Given the description of an element on the screen output the (x, y) to click on. 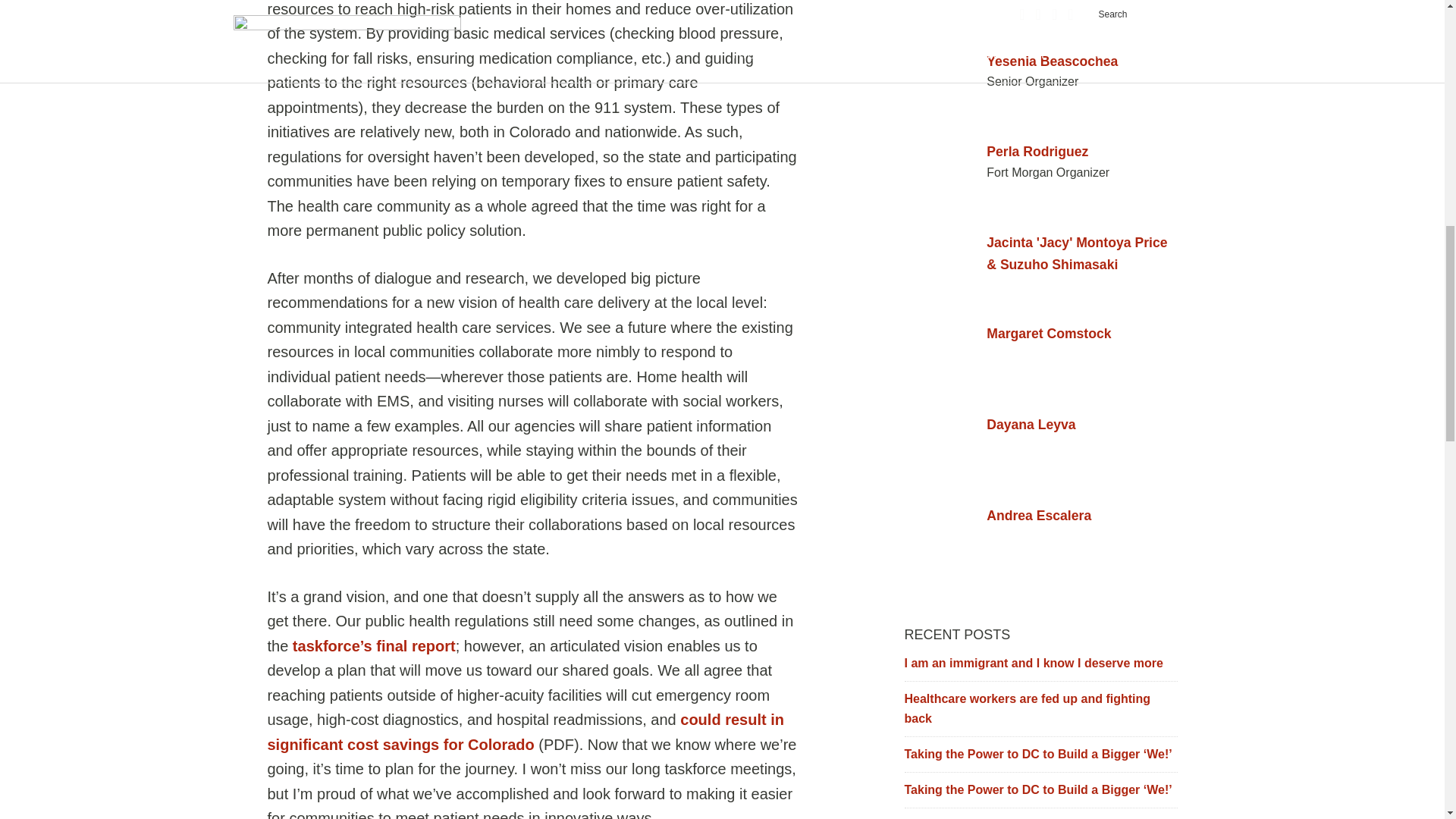
Yesenia Beascochea (1040, 61)
Andrea Escalera (1040, 516)
could result in significant cost savings for Colorado (524, 731)
Dayana Leyva (1040, 424)
Perla Rodriguez (1040, 151)
Margaret Comstock (1040, 333)
